Given the description of an element on the screen output the (x, y) to click on. 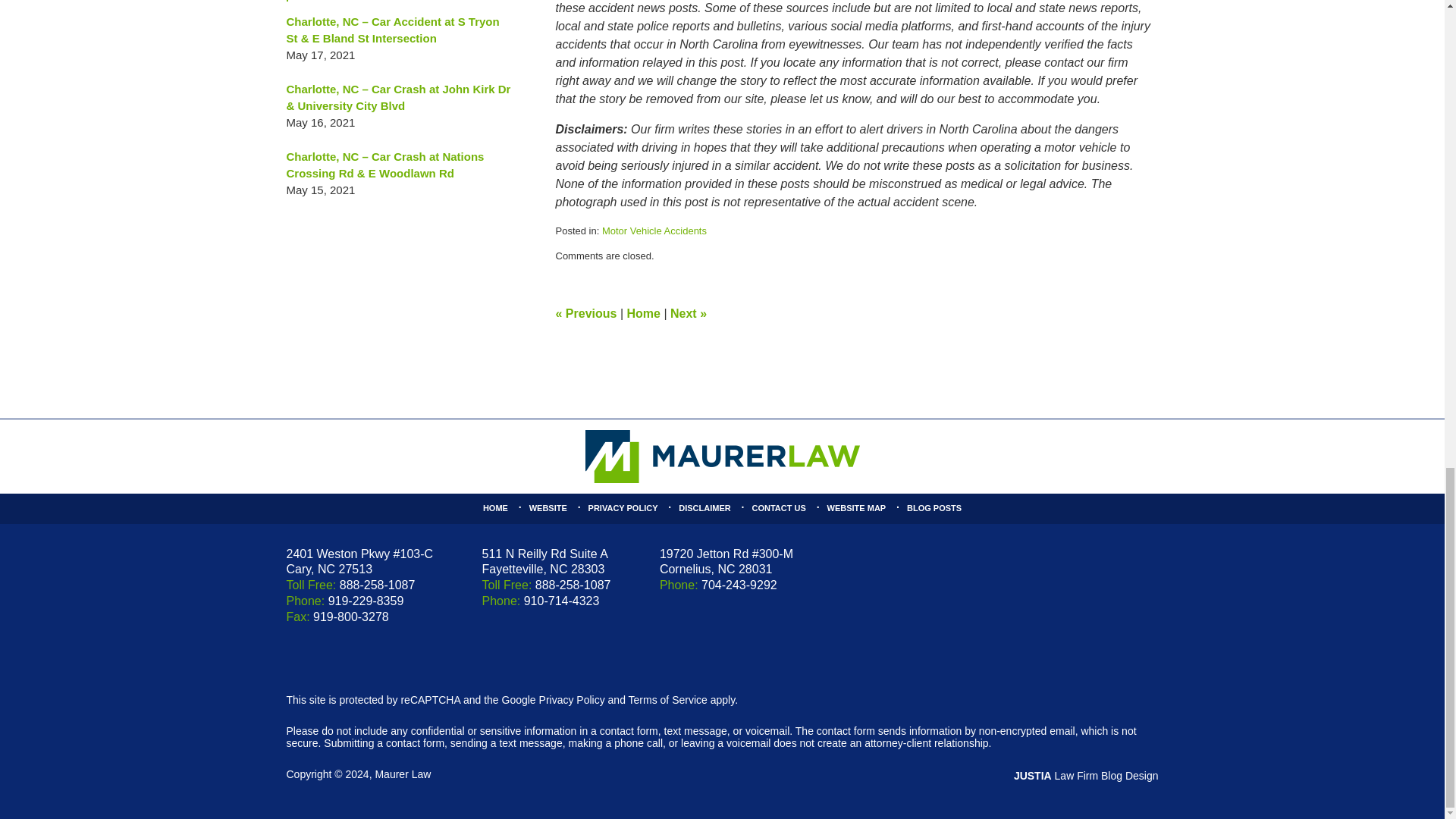
Home (642, 313)
Motor Vehicle Accidents (654, 230)
View all posts in Motor Vehicle Accidents (654, 230)
